Given the description of an element on the screen output the (x, y) to click on. 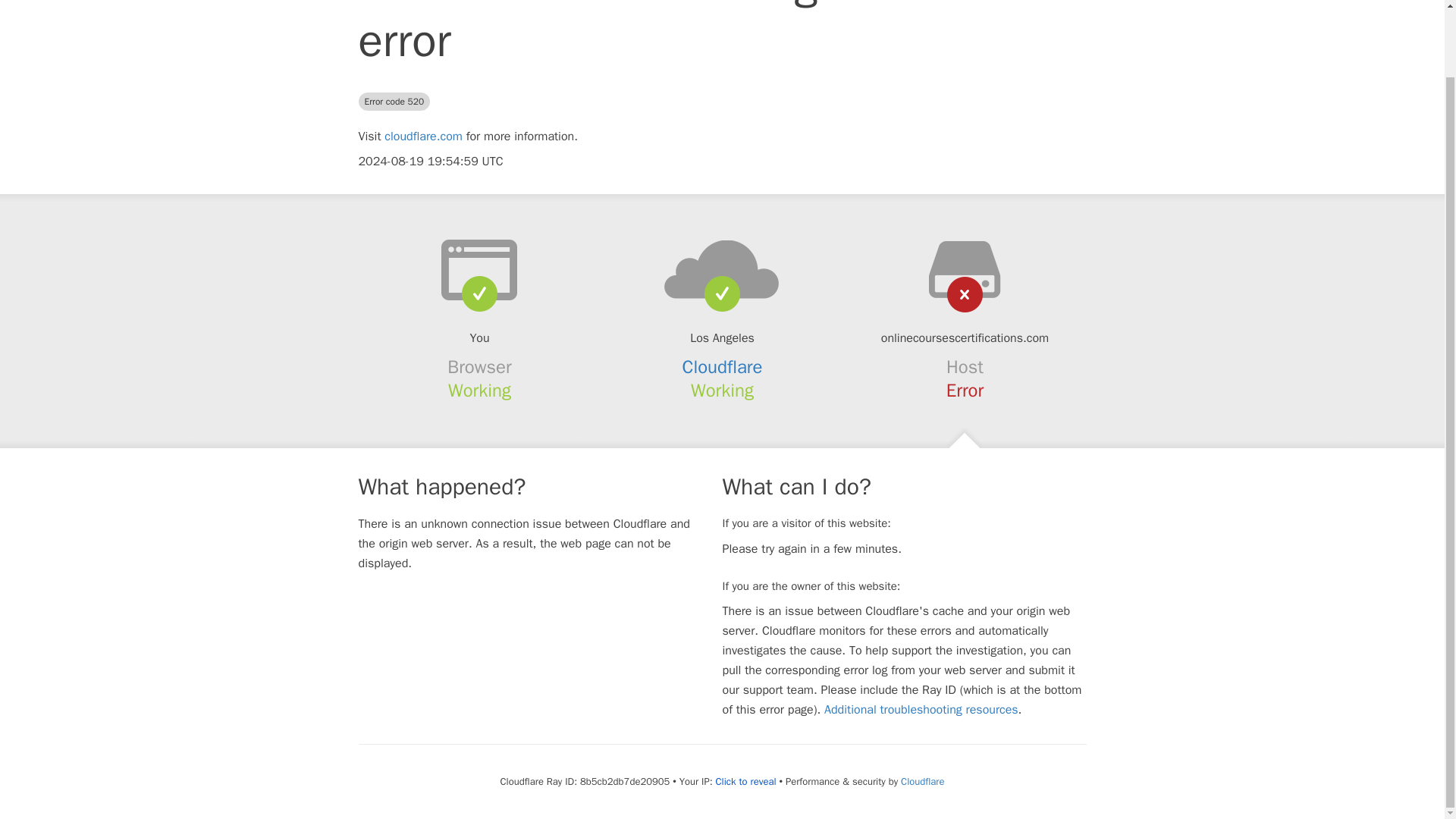
cloudflare.com (423, 136)
Cloudflare (722, 366)
Cloudflare (922, 780)
Additional troubleshooting resources (920, 709)
Click to reveal (746, 781)
